Given the description of an element on the screen output the (x, y) to click on. 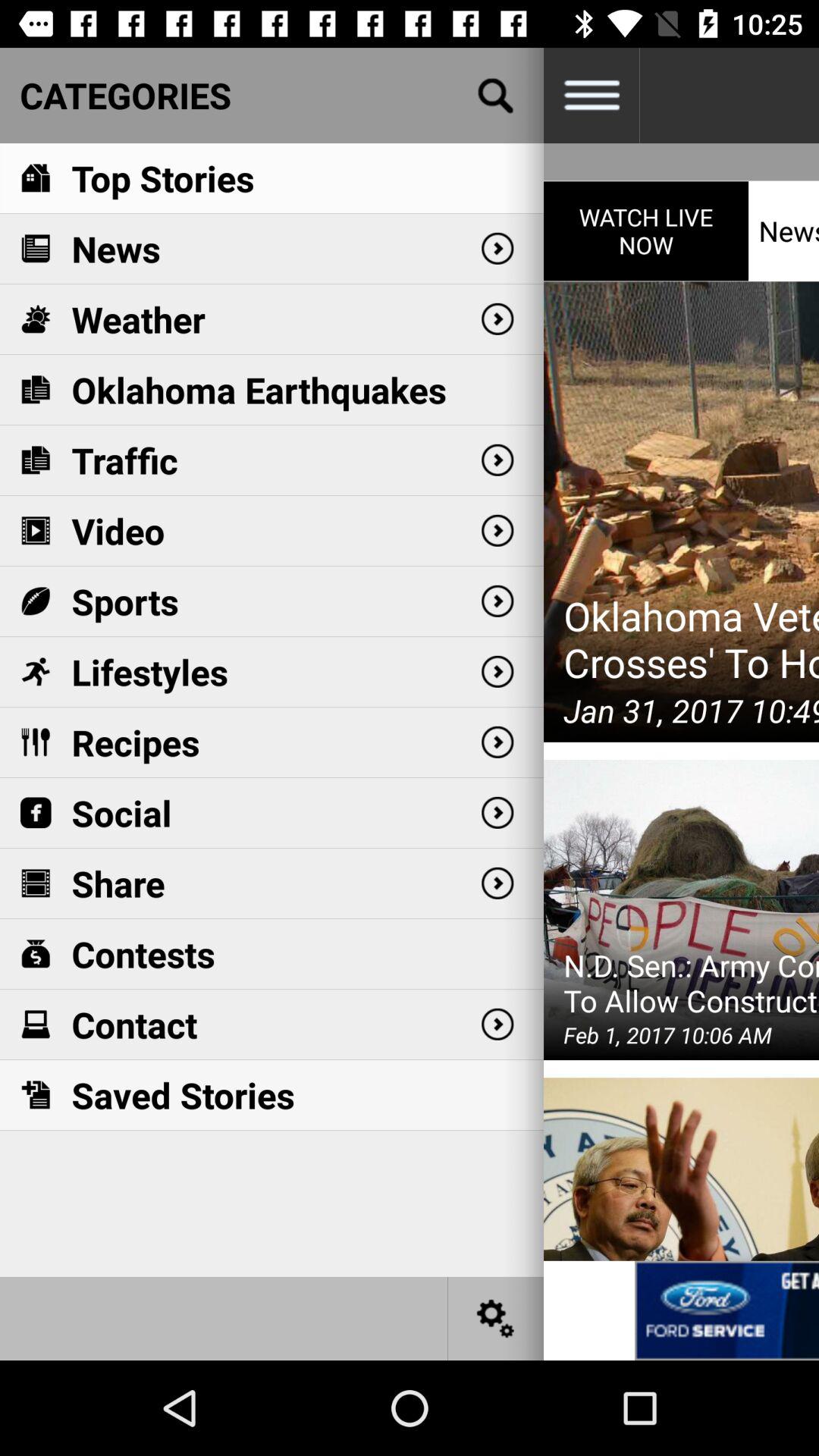
open search bar (495, 95)
